Given the description of an element on the screen output the (x, y) to click on. 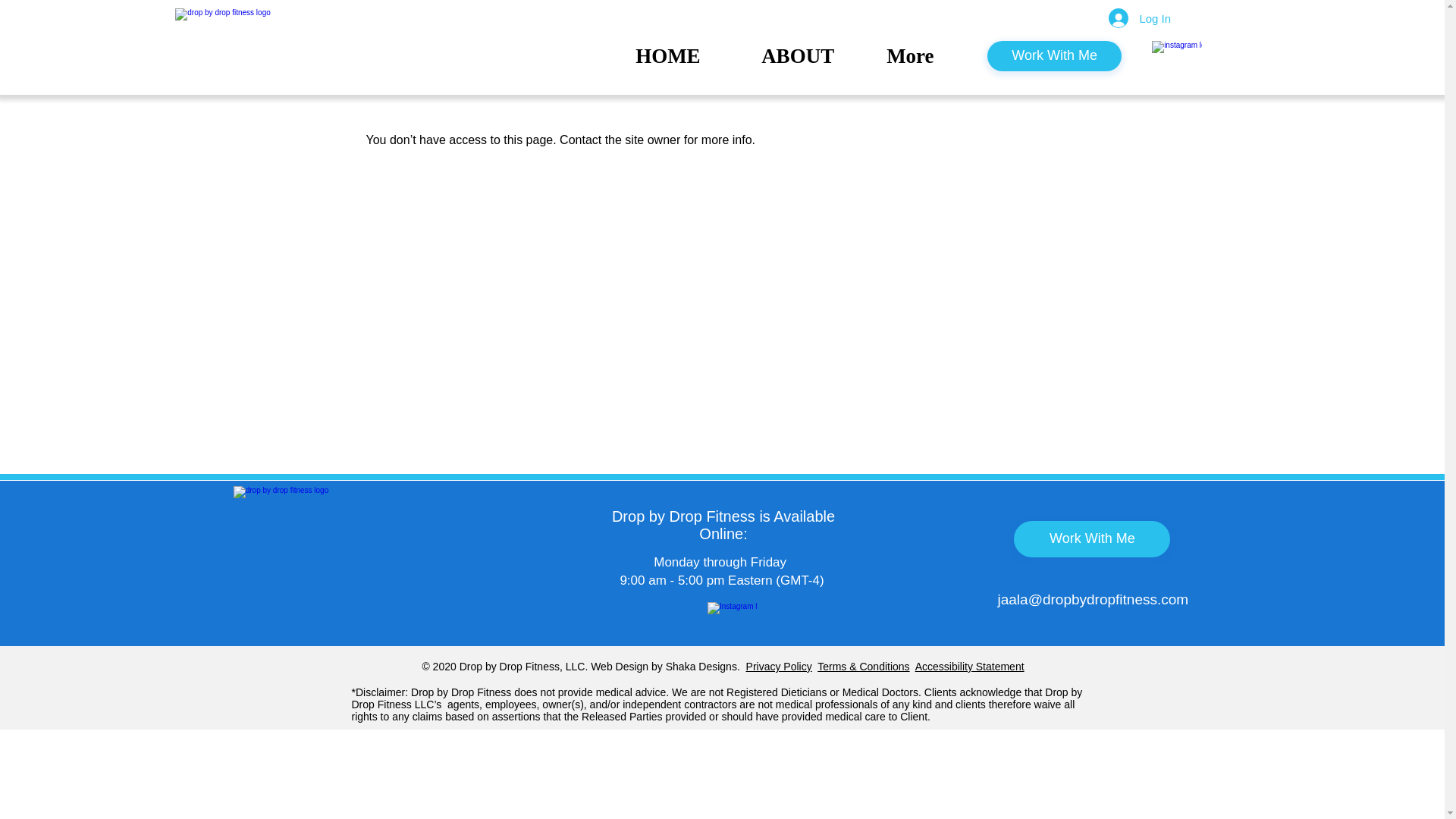
ABOUT (812, 55)
HOME (686, 55)
Log In (1138, 18)
Work With Me (1091, 538)
Work With Me (1054, 55)
Accessibility Statement (970, 666)
Privacy Policy (778, 666)
